Given the description of an element on the screen output the (x, y) to click on. 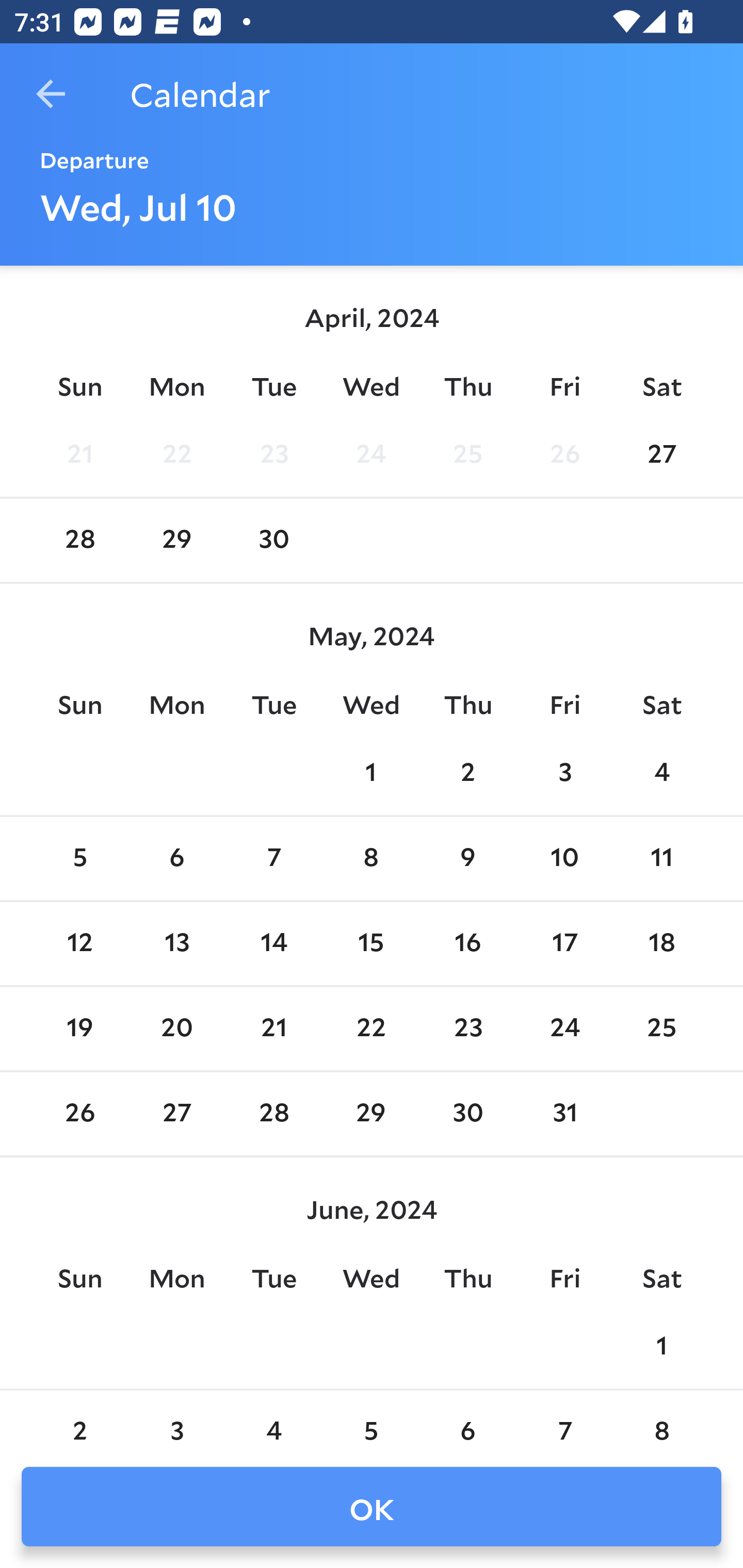
Navigate up (50, 93)
21 (79, 454)
22 (177, 454)
23 (273, 454)
24 (371, 454)
25 (467, 454)
26 (565, 454)
27 (661, 454)
28 (79, 540)
29 (177, 540)
30 (273, 540)
1 (371, 772)
2 (467, 772)
3 (565, 772)
4 (661, 772)
5 (79, 859)
6 (177, 859)
7 (273, 859)
8 (371, 859)
9 (467, 859)
10 (565, 859)
11 (661, 859)
12 (79, 943)
13 (177, 943)
14 (273, 943)
15 (371, 943)
16 (467, 943)
17 (565, 943)
18 (661, 943)
19 (79, 1028)
20 (177, 1028)
21 (273, 1028)
22 (371, 1028)
23 (467, 1028)
24 (565, 1028)
25 (661, 1028)
26 (79, 1114)
27 (177, 1114)
28 (273, 1114)
29 (371, 1114)
30 (467, 1114)
31 (565, 1114)
1 (661, 1346)
2 (79, 1420)
3 (177, 1420)
4 (273, 1420)
5 (371, 1420)
6 (467, 1420)
7 (565, 1420)
8 (661, 1420)
